Given the description of an element on the screen output the (x, y) to click on. 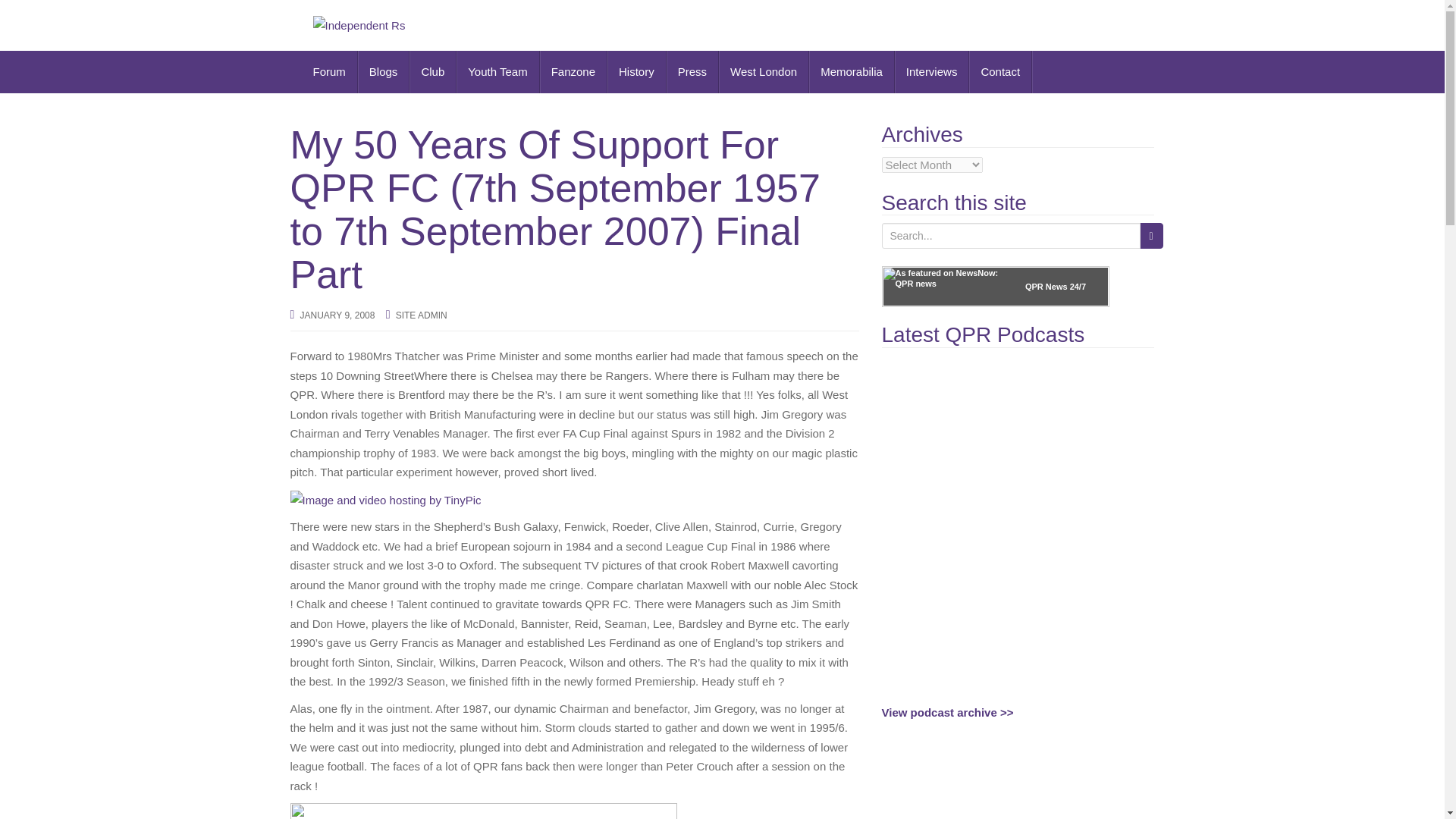
Blogs (384, 71)
Press (692, 71)
History (636, 71)
West London (764, 71)
Forum (329, 71)
Blogs (384, 71)
QPR News (1046, 286)
Interviews (932, 71)
Fanzone (573, 71)
Youth Team (497, 71)
